Given the description of an element on the screen output the (x, y) to click on. 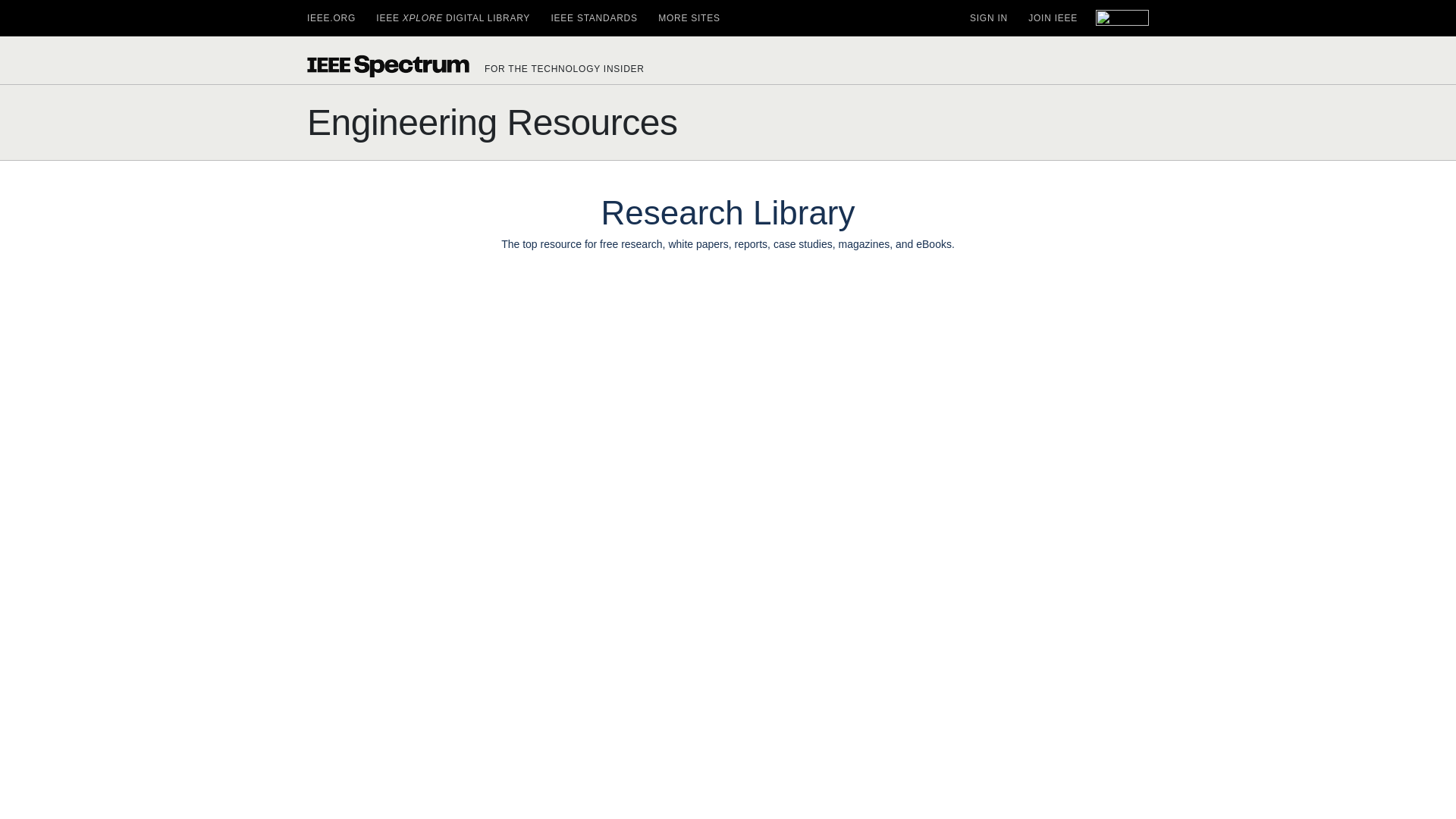
IEEE STANDARDS (593, 18)
MORE SITES (689, 18)
IEEE XPLORE DIGITAL LIBRARY (452, 18)
SIGN IN (988, 18)
IEEE.ORG (331, 18)
JOIN IEEE (1052, 18)
